Given the description of an element on the screen output the (x, y) to click on. 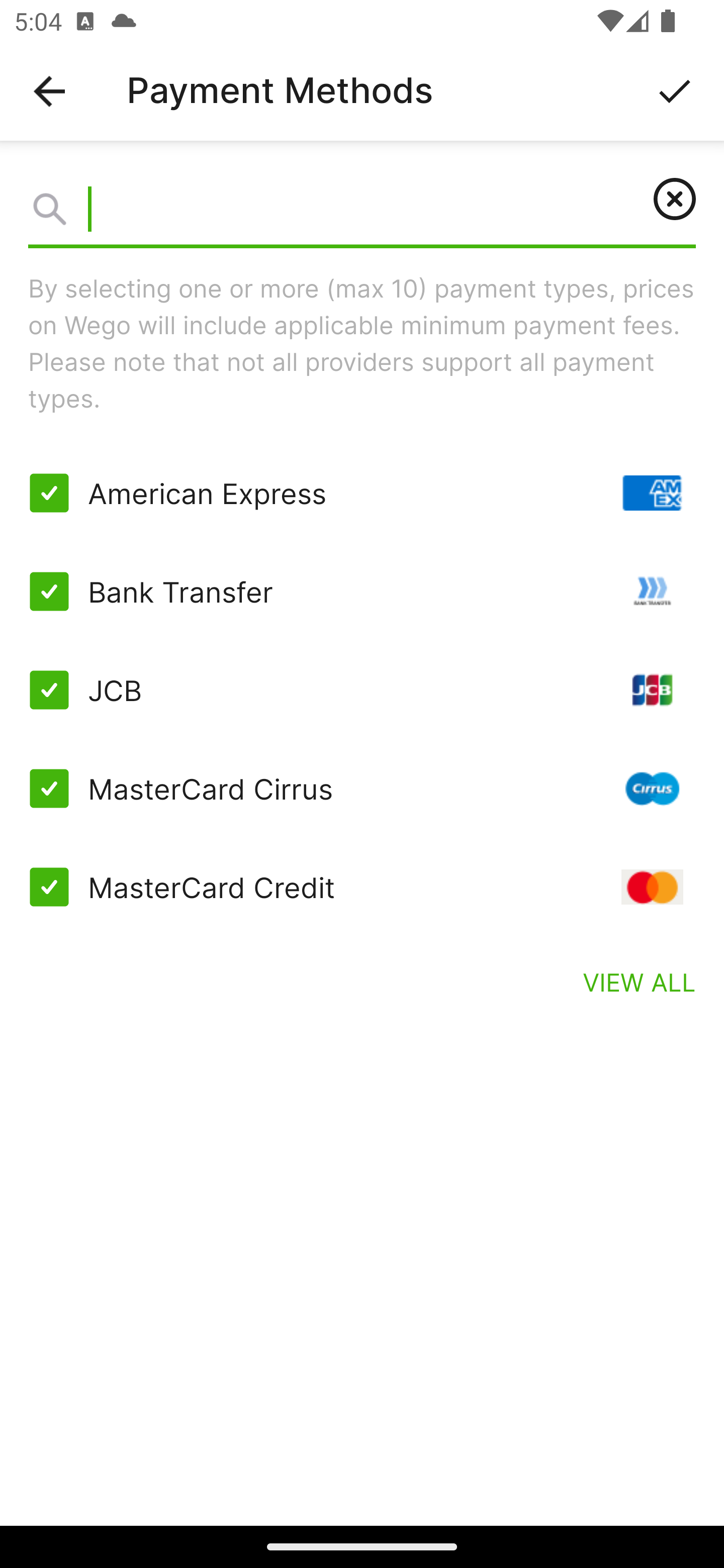
American Express (362, 492)
Bank Transfer (362, 591)
JCB (362, 689)
MasterCard Cirrus (362, 787)
MasterCard Credit (362, 886)
VIEW ALL (639, 981)
